Given the description of an element on the screen output the (x, y) to click on. 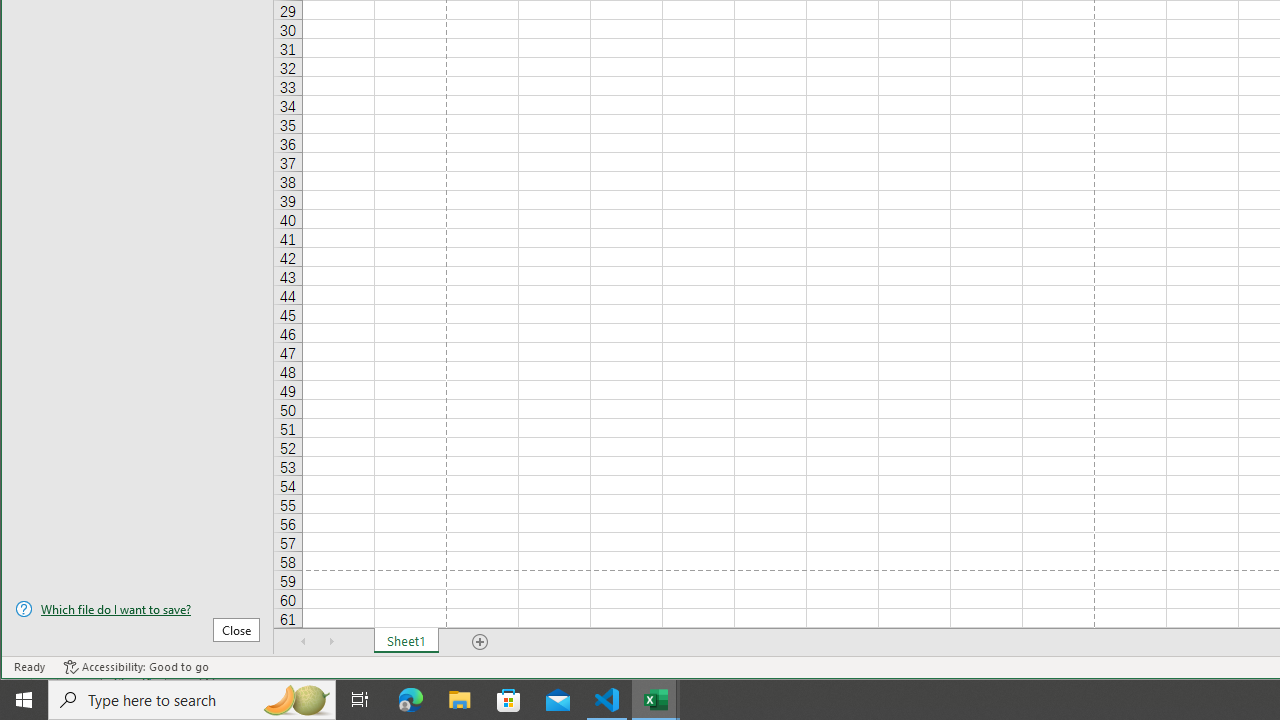
Excel - 2 running windows (656, 699)
Task View (359, 699)
Microsoft Edge (411, 699)
Visual Studio Code - 1 running window (607, 699)
Type here to search (191, 699)
Search highlights icon opens search home window (295, 699)
Start (24, 699)
Microsoft Store (509, 699)
